Given the description of an element on the screen output the (x, y) to click on. 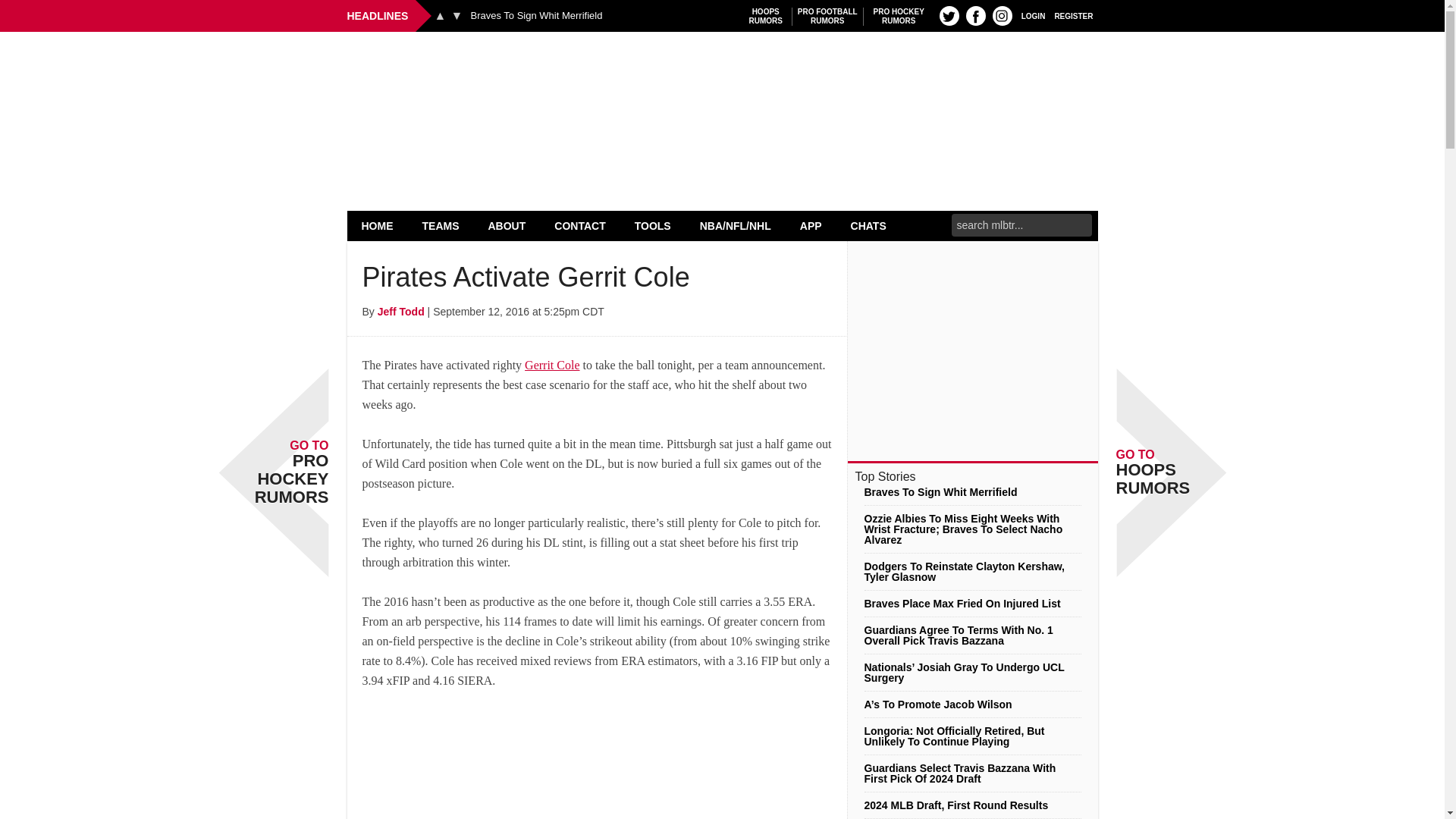
Next (456, 15)
REGISTER (1073, 15)
HOME (377, 225)
Instagram profile (1001, 15)
Twitter profile (827, 16)
Braves To Sign Whit Merrifield (949, 15)
LOGIN (898, 16)
MLB Trade Rumors (536, 15)
Previous (765, 16)
FB profile (1032, 15)
TEAMS (722, 69)
